Given the description of an element on the screen output the (x, y) to click on. 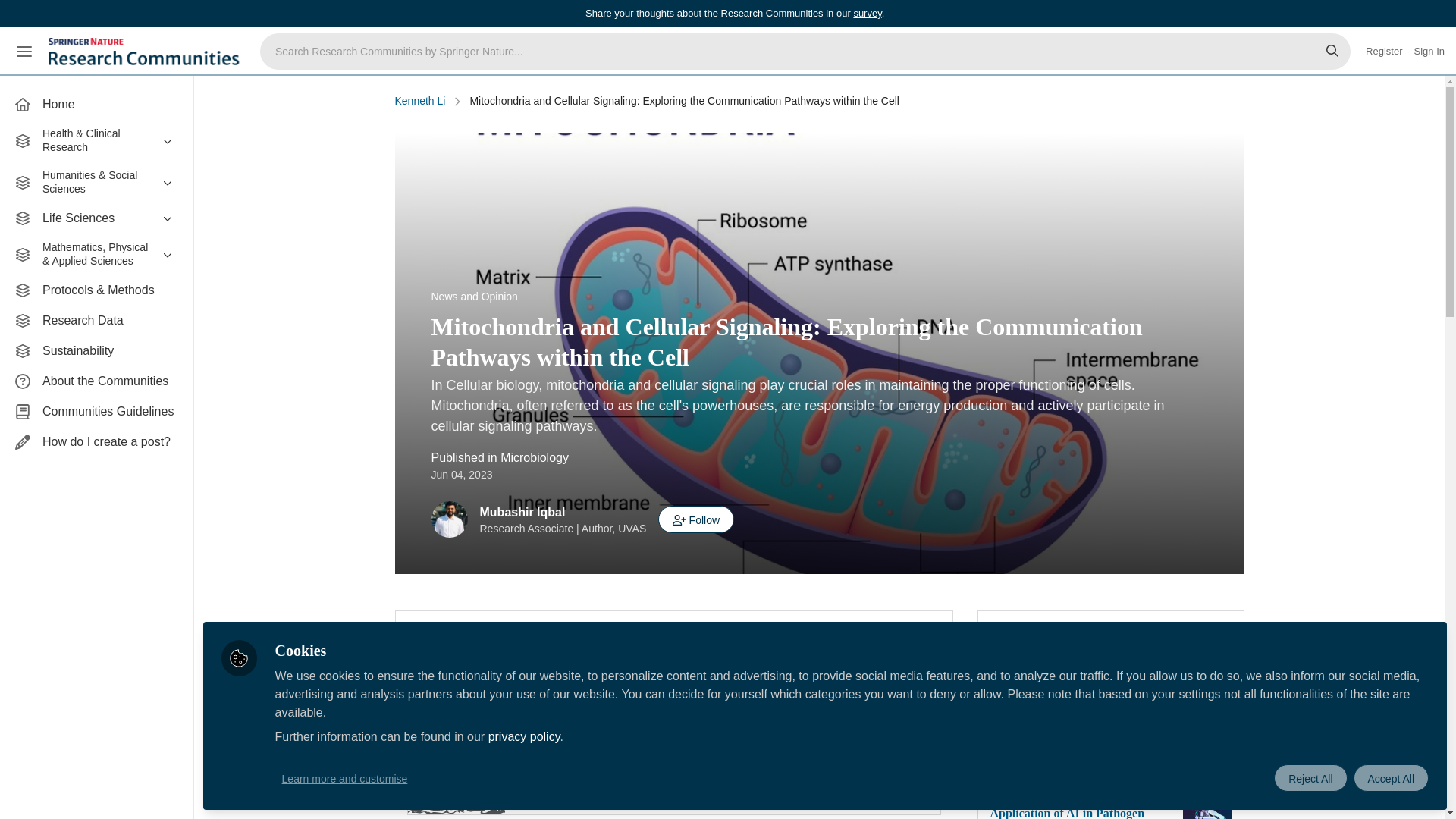
survey (866, 12)
Life Sciences (96, 217)
Menu (24, 51)
Home (96, 103)
Life Sciences (96, 217)
Search (1332, 51)
Research Communities by Springer Nature (146, 51)
Home (96, 103)
